Given the description of an element on the screen output the (x, y) to click on. 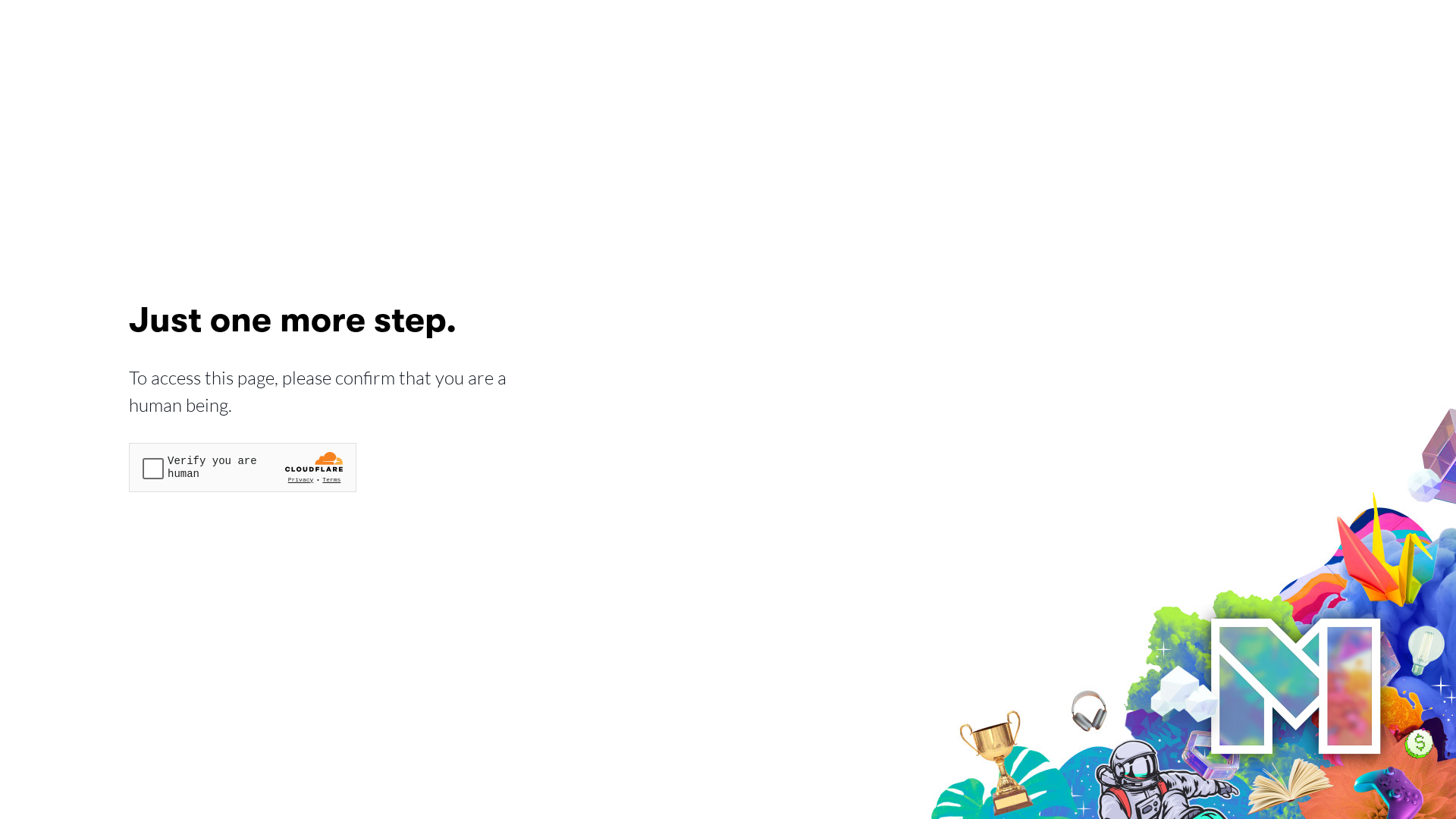
Widget containing a Cloudflare security challenge Element type: hover (242, 467)
